Given the description of an element on the screen output the (x, y) to click on. 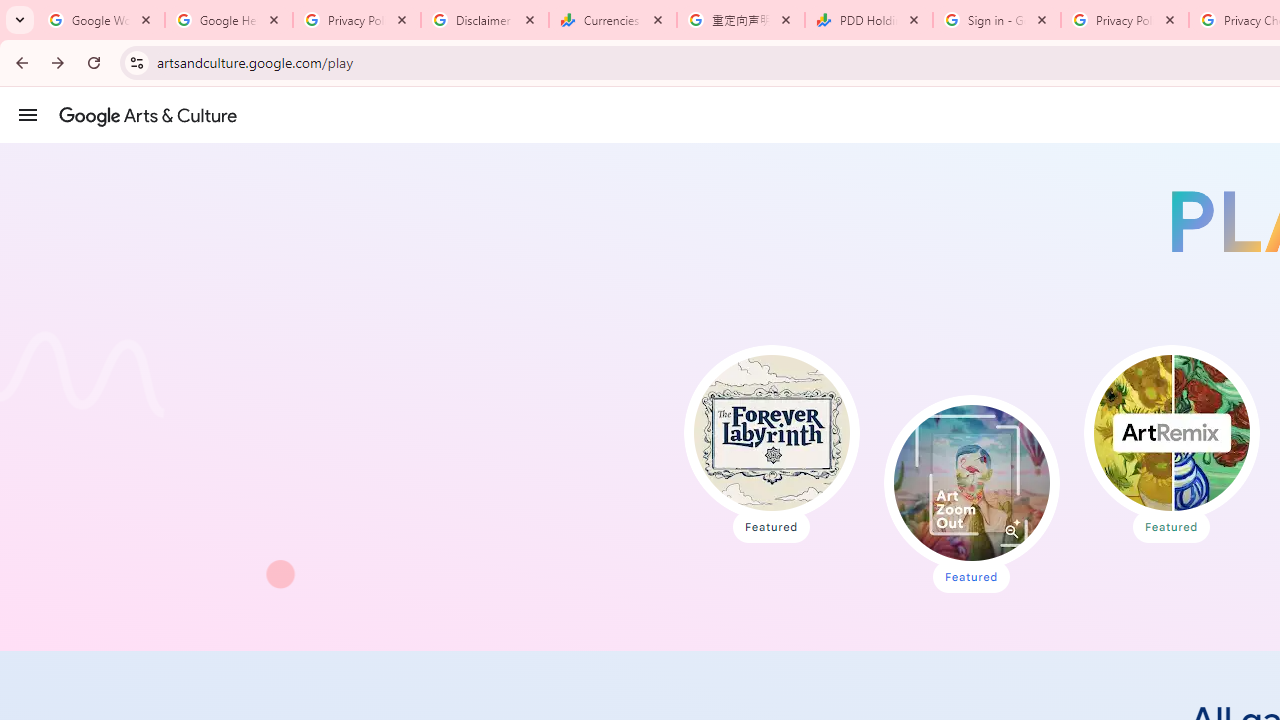
Menu (27, 114)
Art Remix (1170, 432)
PDD Holdings Inc - ADR (PDD) Price & News - Google Finance (869, 20)
The Forever Labyrinth (771, 432)
Google Workspace Admin Community (101, 20)
Currencies - Google Finance (613, 20)
Art Zoom Out (971, 482)
